Given the description of an element on the screen output the (x, y) to click on. 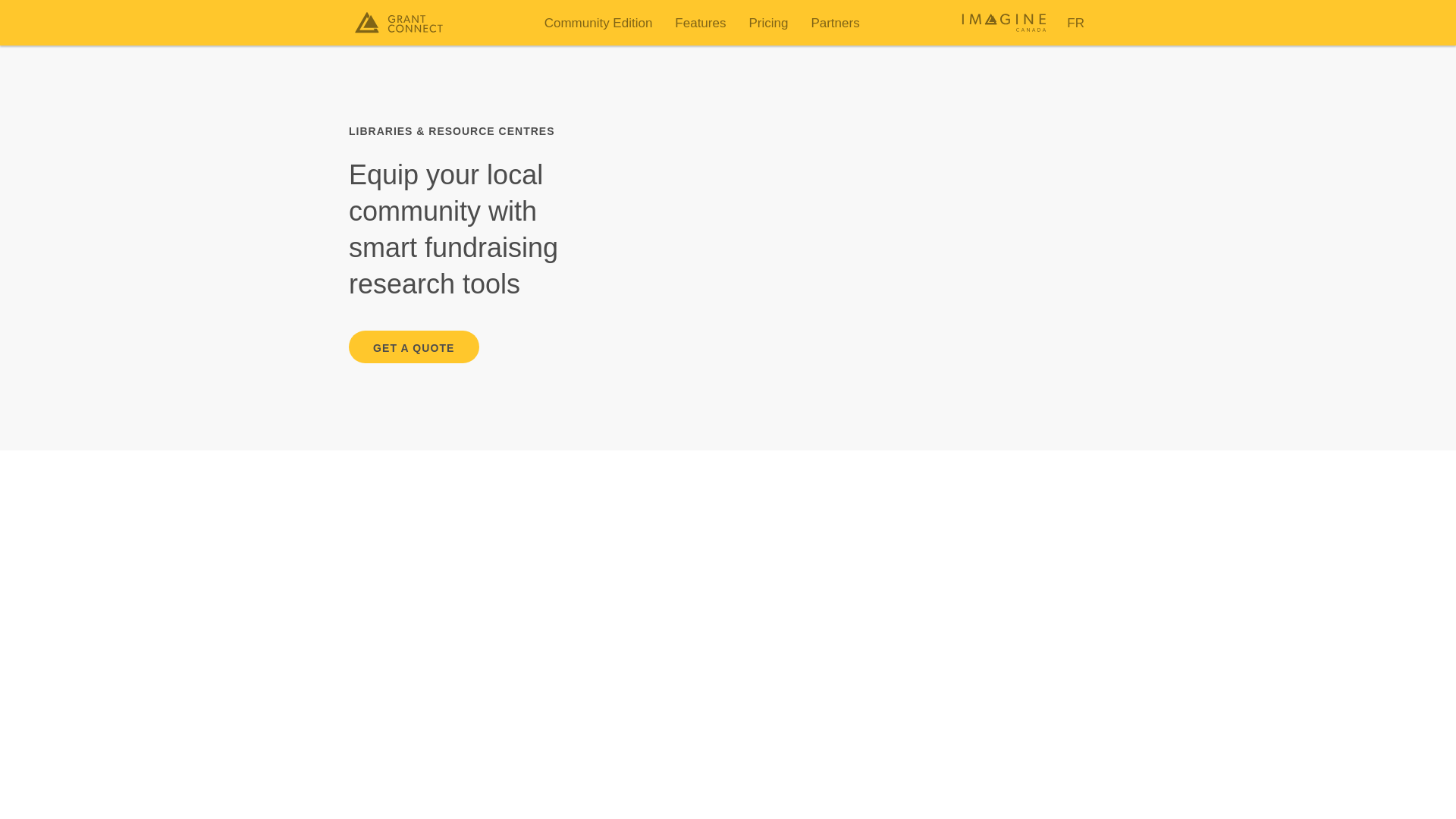
Imagine Logo Created with Sketch. (1003, 29)
Partners (834, 22)
Pricing (767, 22)
GET A QUOTE (414, 346)
Imagine Logo Created with Sketch. (1003, 22)
FR (1075, 22)
Community Edition (598, 22)
Features (700, 22)
